Given the description of an element on the screen output the (x, y) to click on. 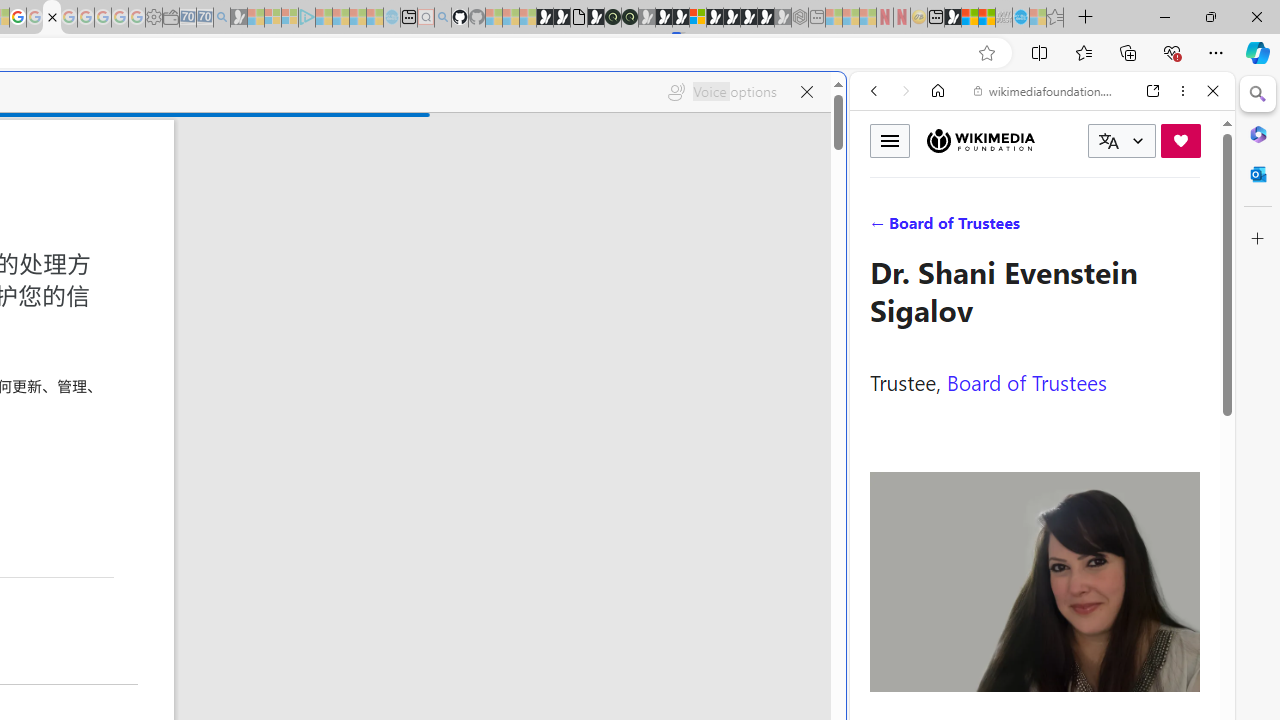
Board of Trustees (1026, 381)
Donate now (1180, 140)
